Given the description of an element on the screen output the (x, y) to click on. 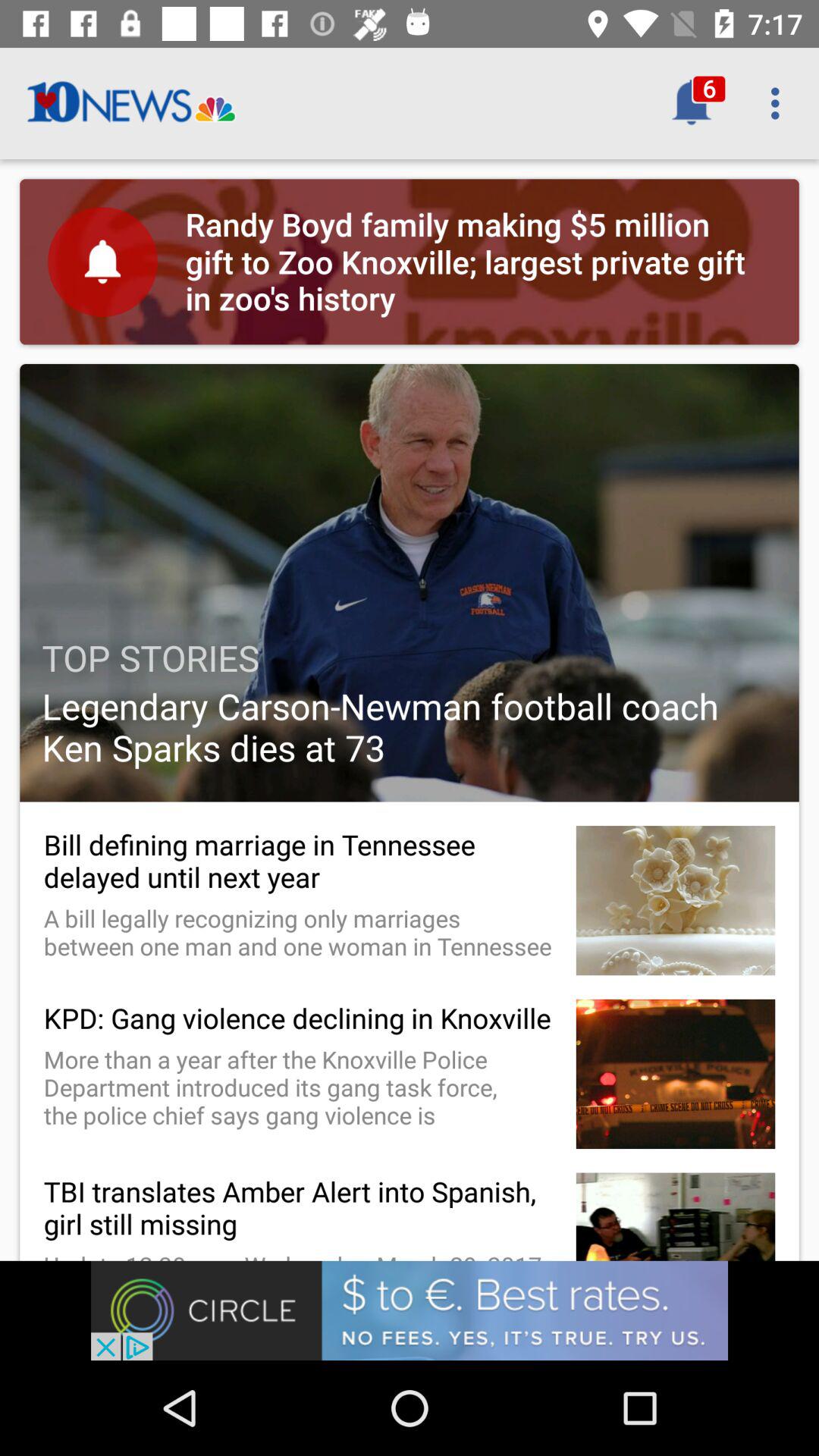
advertisement (409, 1310)
